Given the description of an element on the screen output the (x, y) to click on. 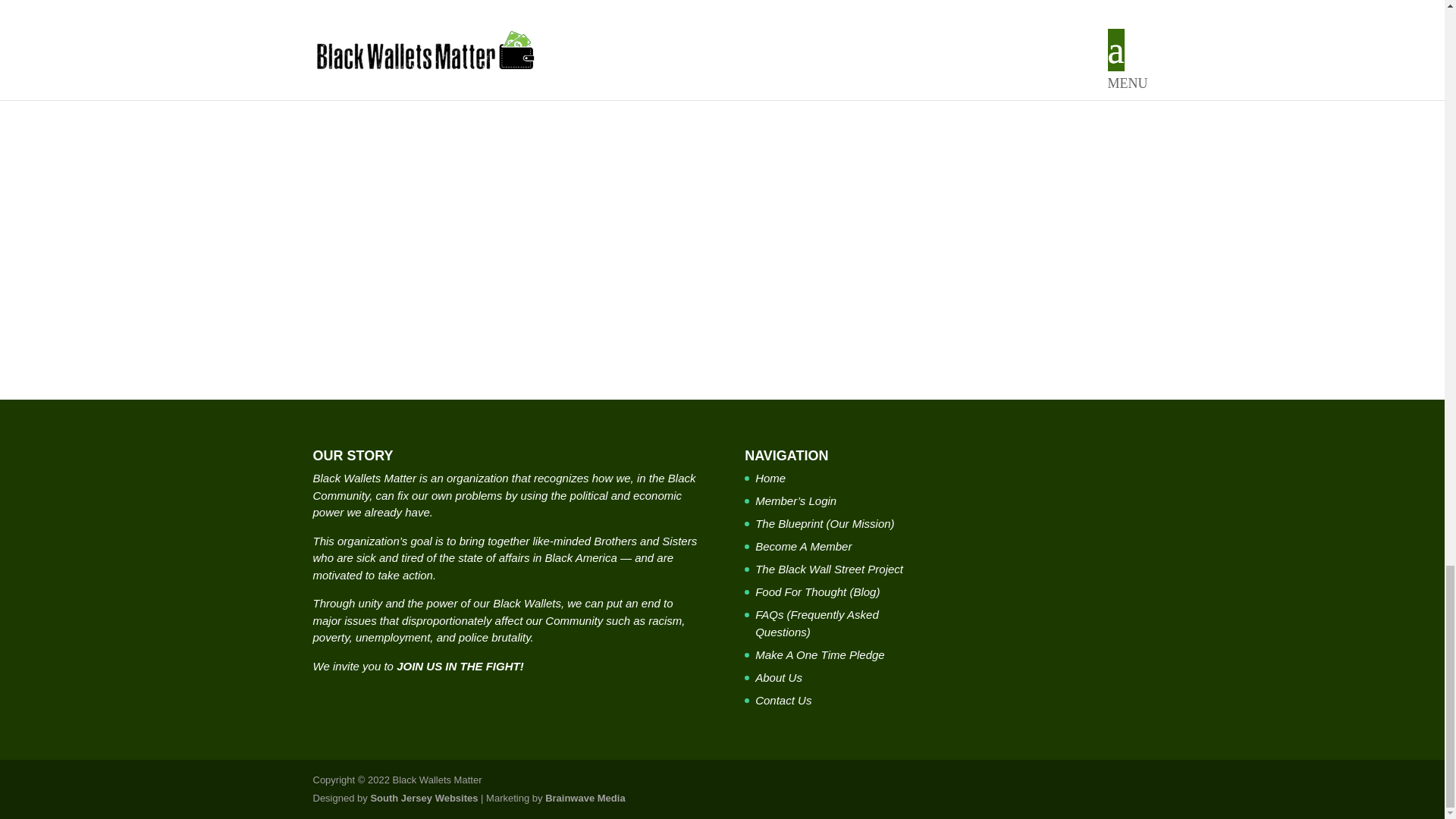
South Jersey Websites (423, 797)
Become A Founding Member Today! (721, 43)
Become A Member (803, 545)
Make A One Time Pledge (820, 654)
Contact Us (782, 699)
Home (770, 477)
Brainwave Media (585, 797)
The Black Wall Street Project (828, 568)
About Us (778, 676)
